Given the description of an element on the screen output the (x, y) to click on. 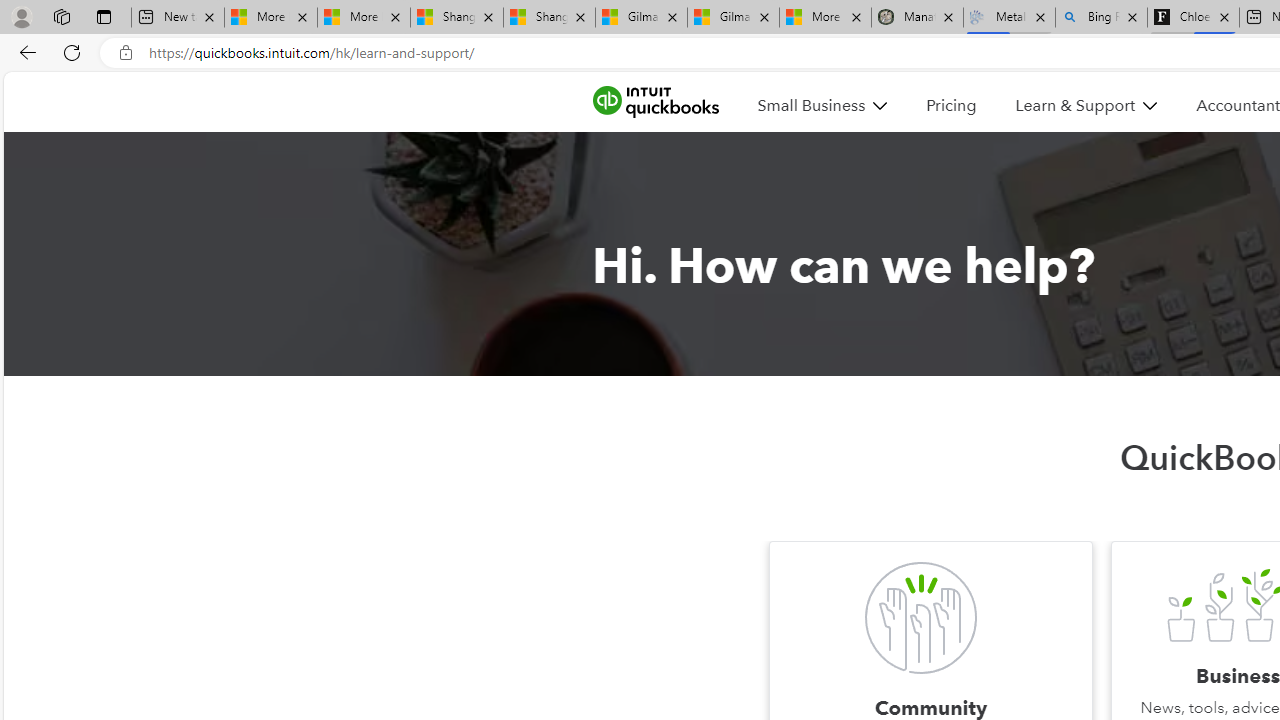
Small Business (811, 105)
Learn & Support (1086, 105)
Chloe Sorvino (1193, 17)
Small Business (822, 105)
